Given the description of an element on the screen output the (x, y) to click on. 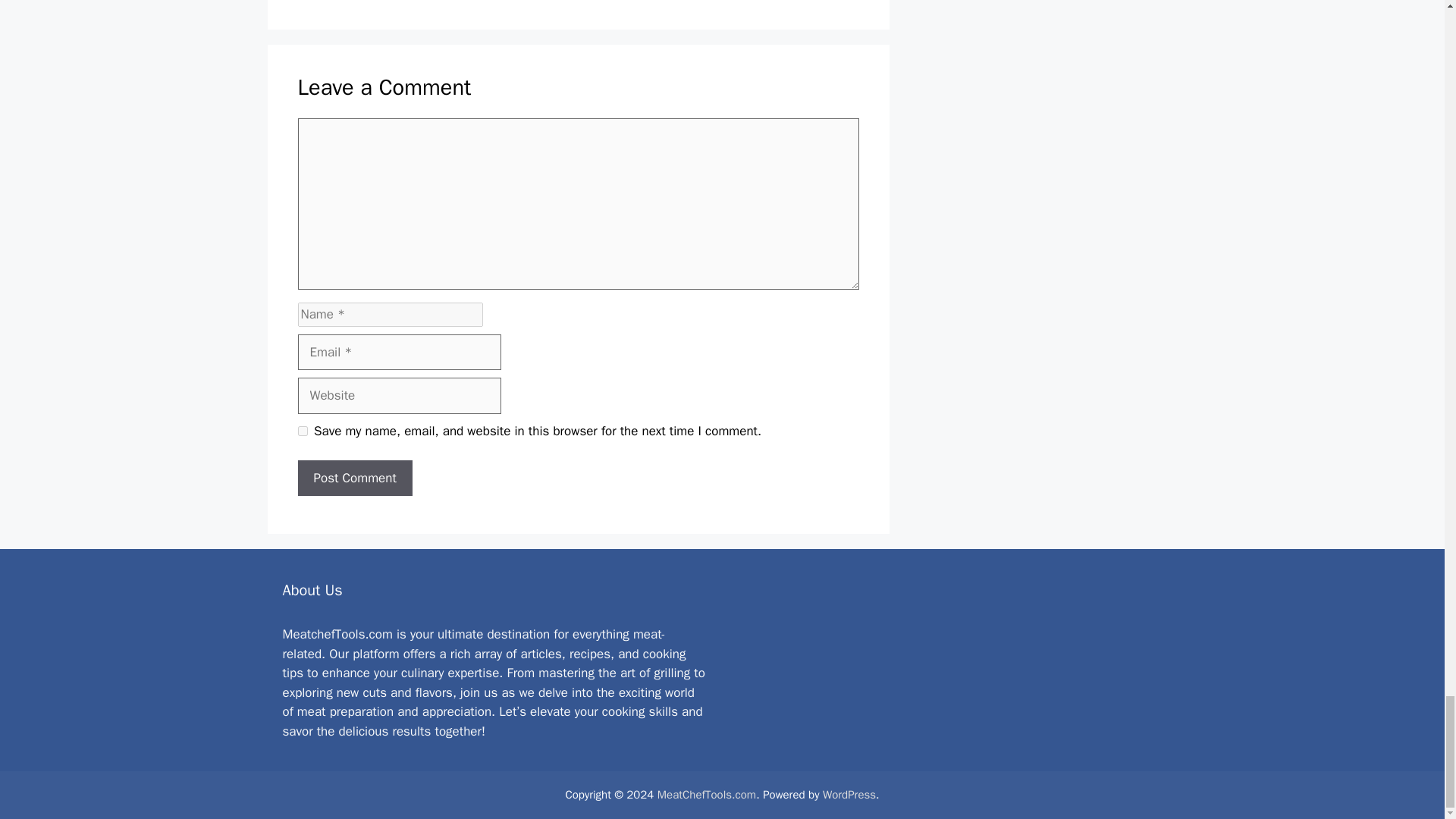
Post Comment (354, 478)
yes (302, 430)
Post Comment (354, 478)
